Given the description of an element on the screen output the (x, y) to click on. 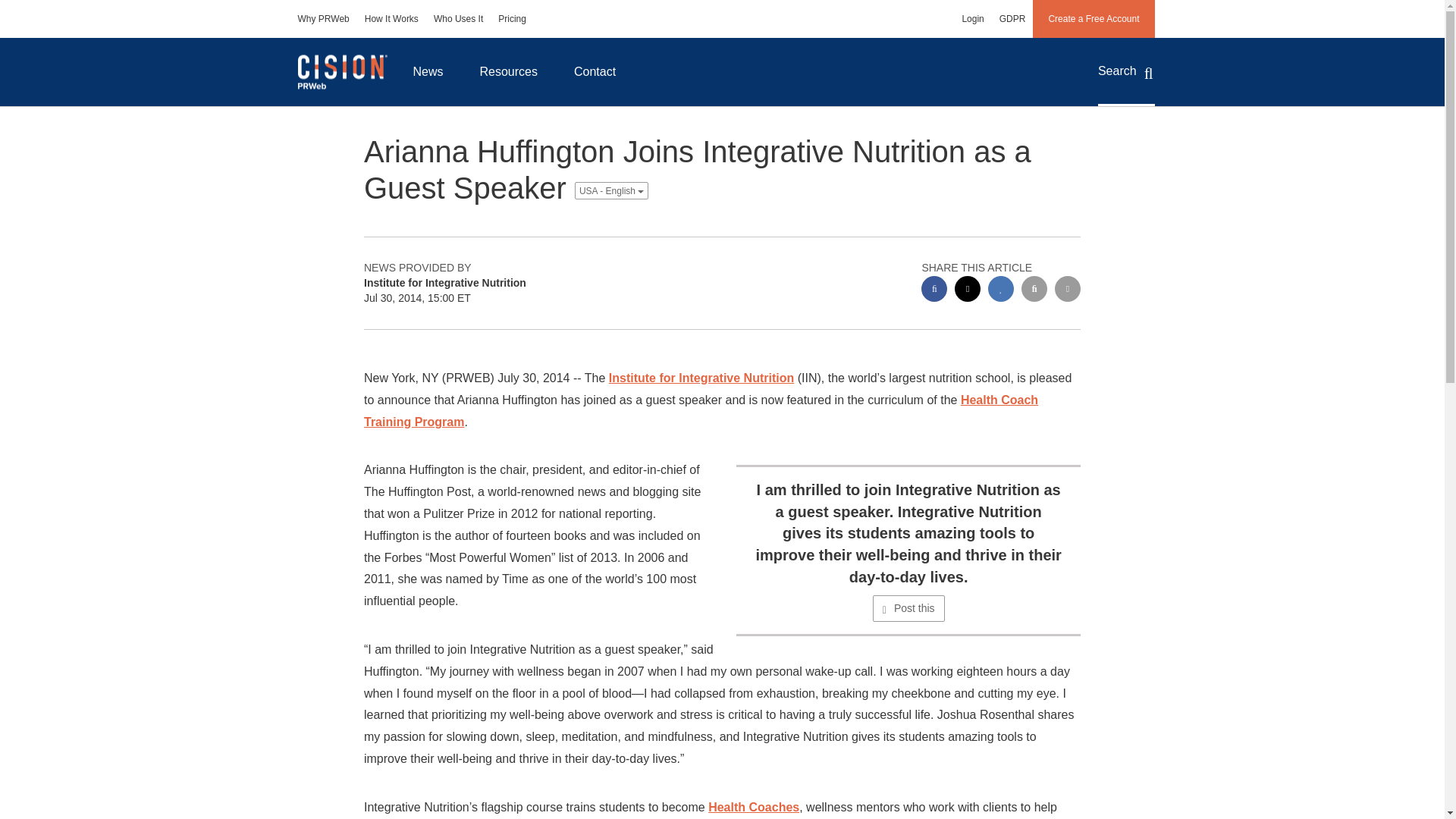
Institute for Integrative Nutrition (700, 377)
GDPR (1012, 18)
Login (972, 18)
Why PRWeb (322, 18)
Who Uses It (458, 18)
Resources (508, 71)
Health Coaches (753, 807)
News (427, 71)
Health Coach Training Program (701, 410)
